Given the description of an element on the screen output the (x, y) to click on. 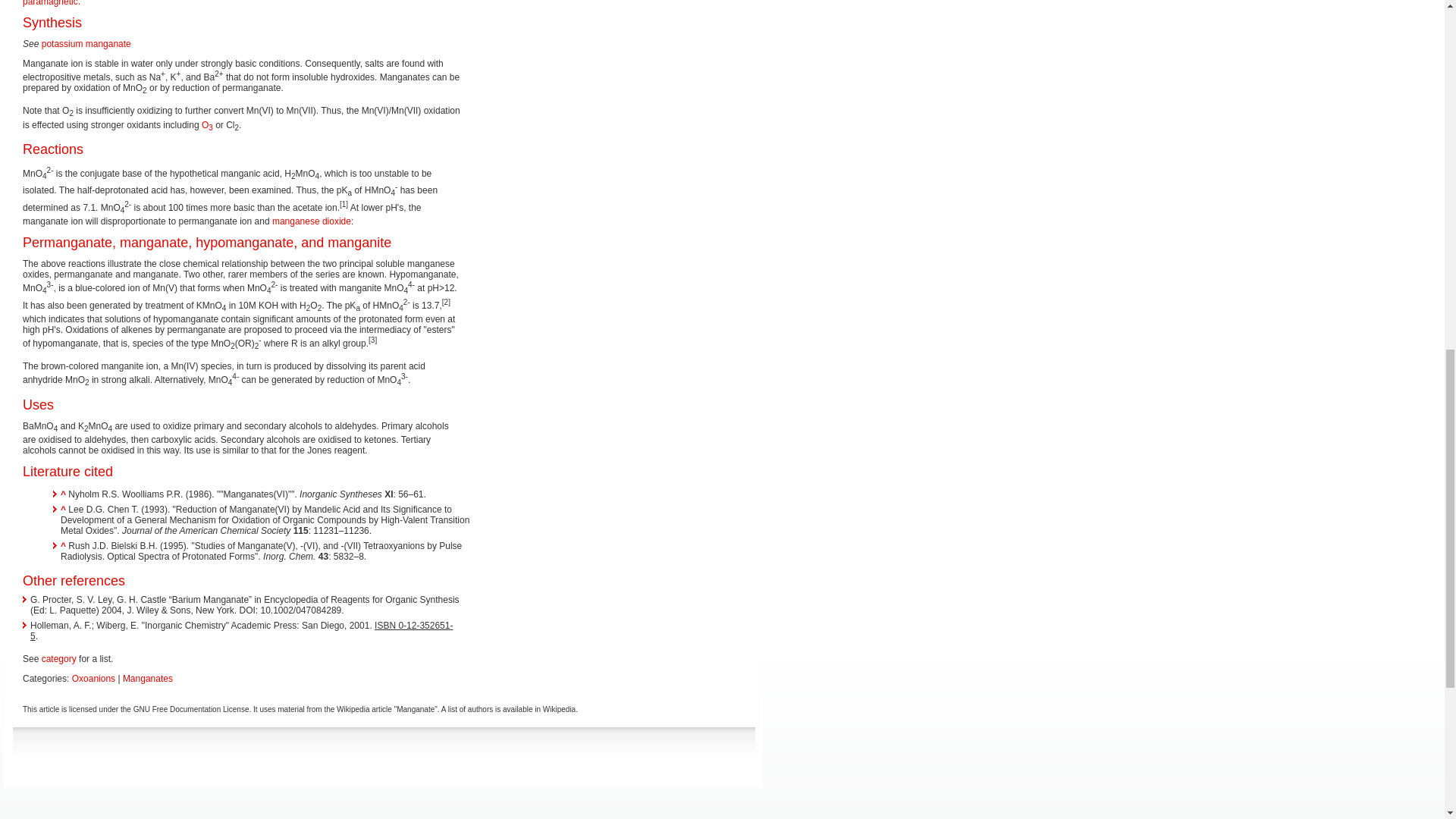
Paramagnetic (50, 3)
O3 (207, 124)
Manganese dioxide (311, 221)
potassium manganate (86, 43)
Ozone (207, 124)
paramagnetic (50, 3)
Potassium manganate (86, 43)
